Given the description of an element on the screen output the (x, y) to click on. 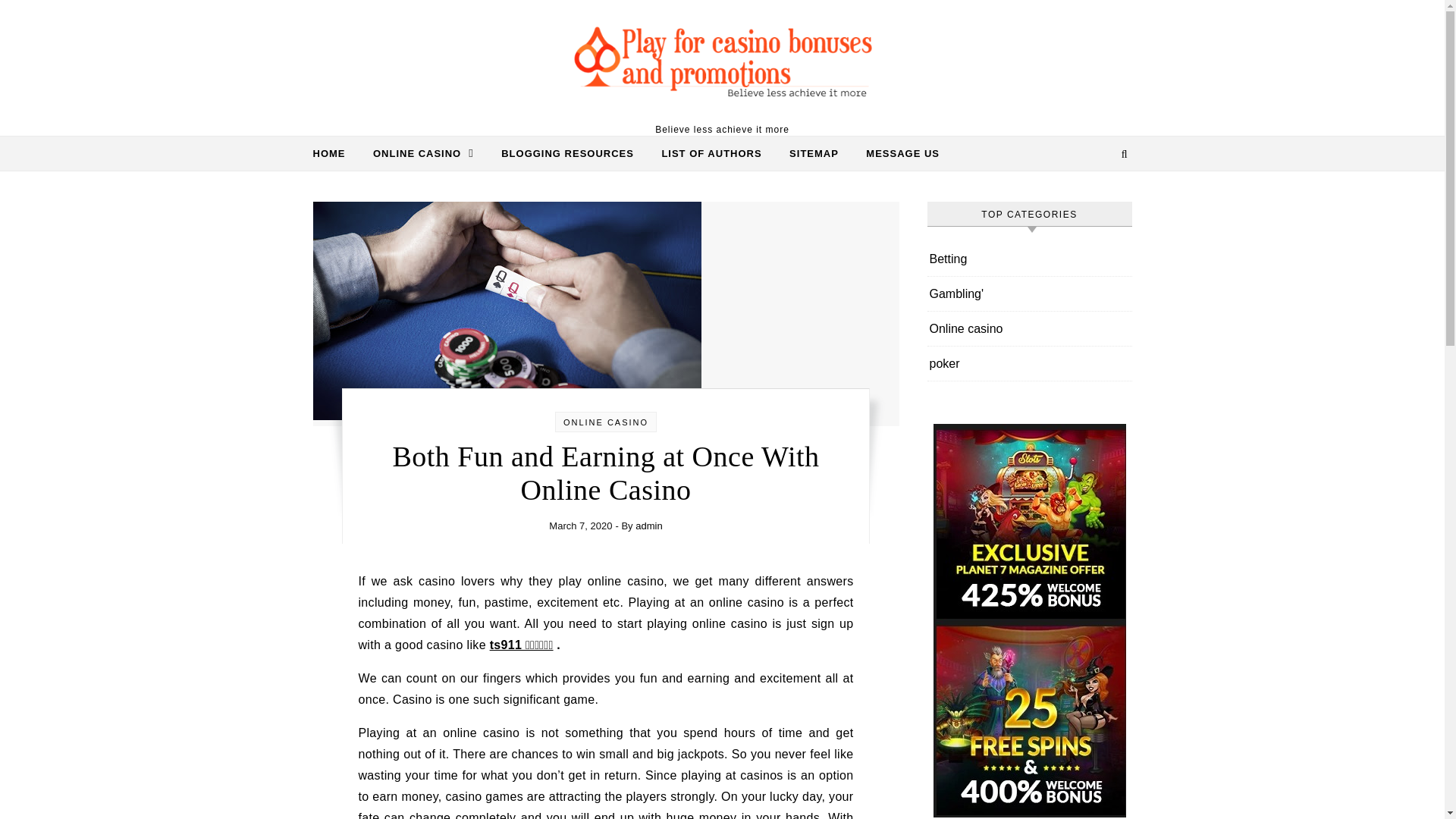
SITEMAP (813, 153)
Betting (949, 258)
Posts by admin (648, 525)
admin (648, 525)
ONLINE CASINO (605, 421)
LIST OF AUTHORS (711, 153)
BLOGGING RESOURCES (567, 153)
Play for casino bonuses and promotions (721, 60)
MESSAGE US (896, 153)
poker (944, 363)
Online casino (966, 328)
Gambling' (957, 293)
ONLINE CASINO (423, 153)
HOME (334, 153)
